Given the description of an element on the screen output the (x, y) to click on. 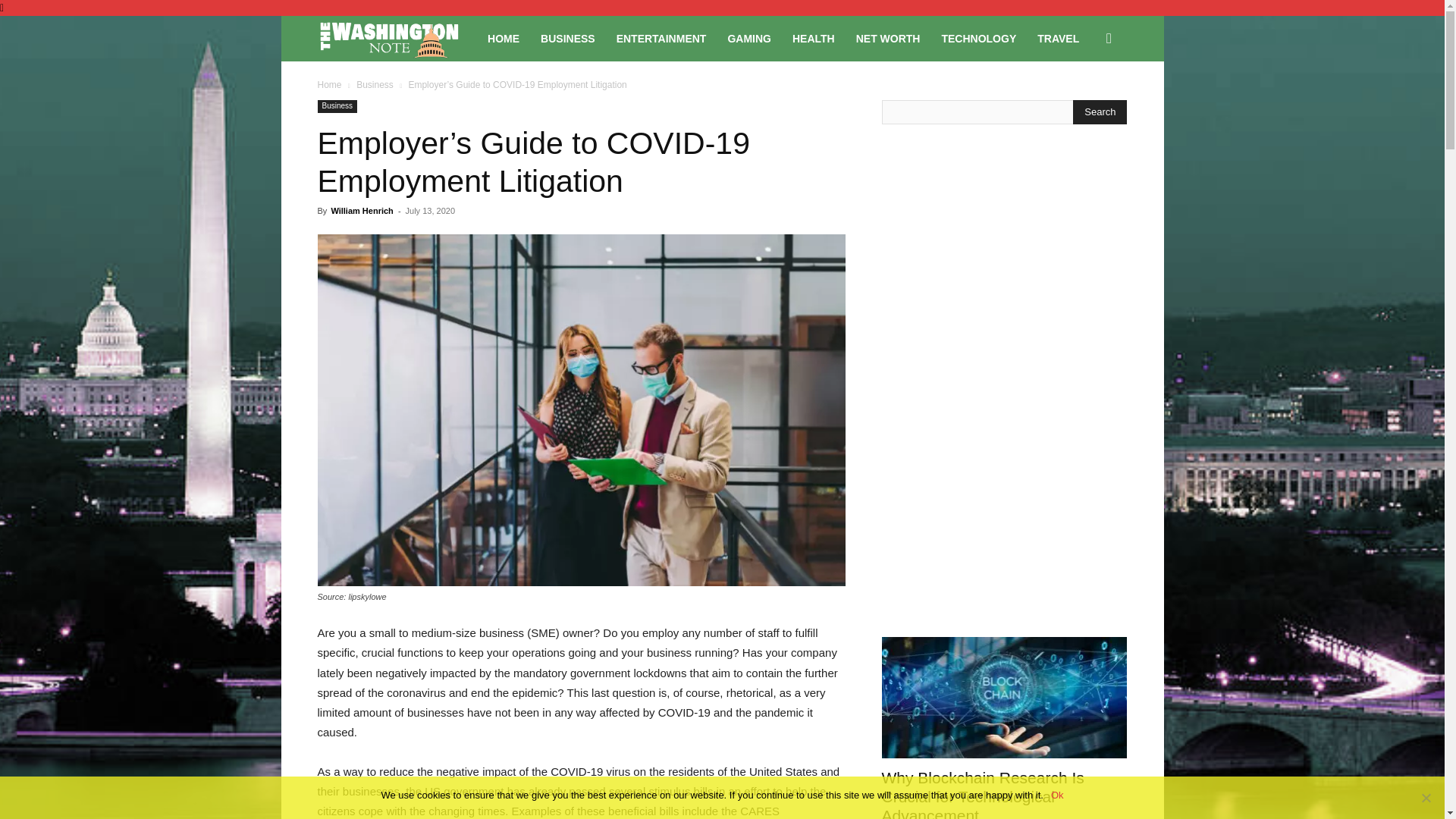
The Washington Note (397, 38)
BUSINESS (567, 38)
ENTERTAINMENT (661, 38)
View all posts in Business (374, 84)
William Henrich (361, 210)
Business (336, 106)
GAMING (748, 38)
NET WORTH (888, 38)
Home (328, 84)
Business (374, 84)
HEALTH (813, 38)
Search (1099, 111)
HOME (503, 38)
TRAVEL (1057, 38)
